Given the description of an element on the screen output the (x, y) to click on. 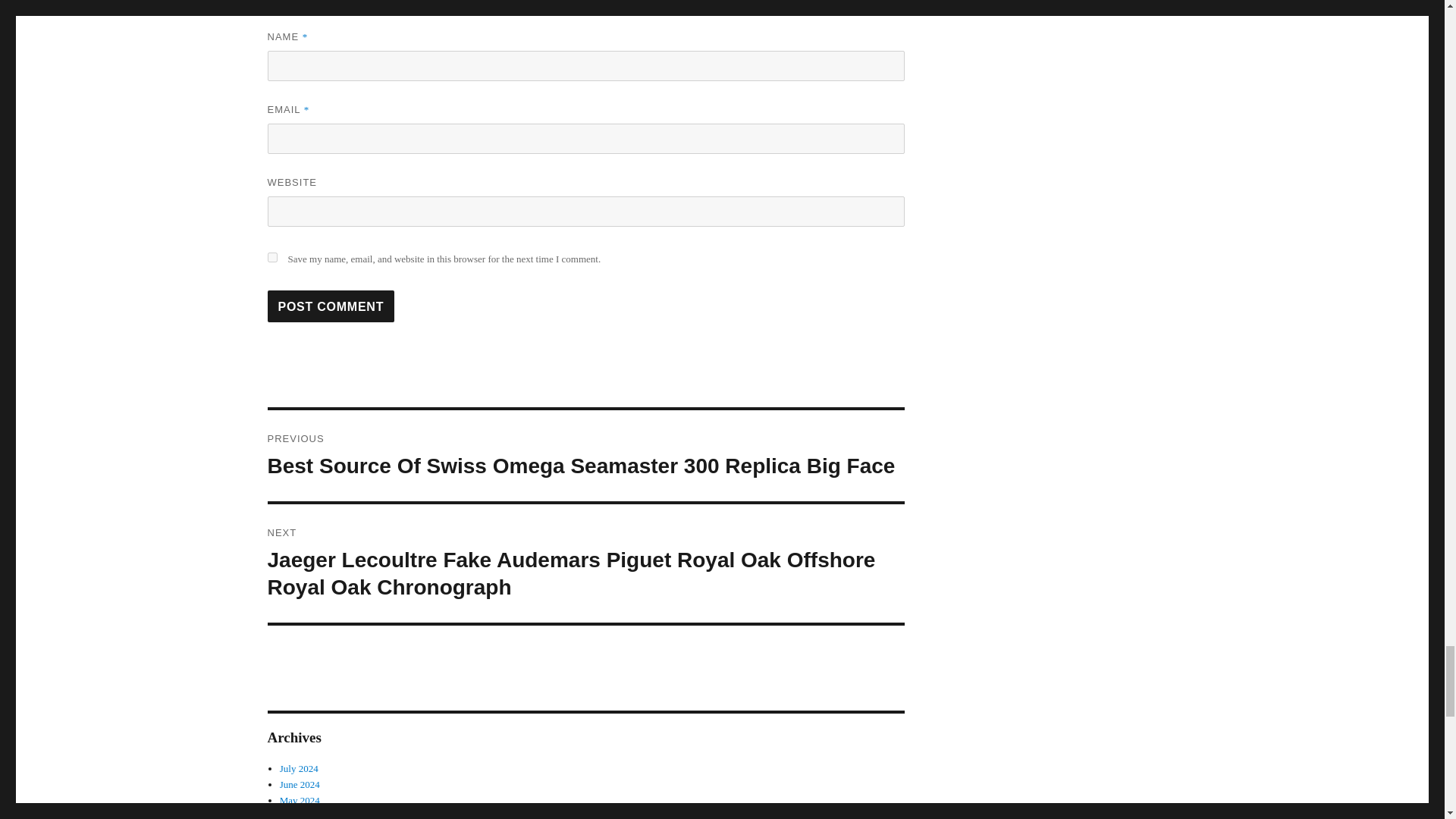
April 2024 (301, 814)
July 2024 (298, 767)
Post Comment (330, 306)
May 2024 (299, 799)
yes (271, 257)
June 2024 (299, 784)
Post Comment (330, 306)
